Given the description of an element on the screen output the (x, y) to click on. 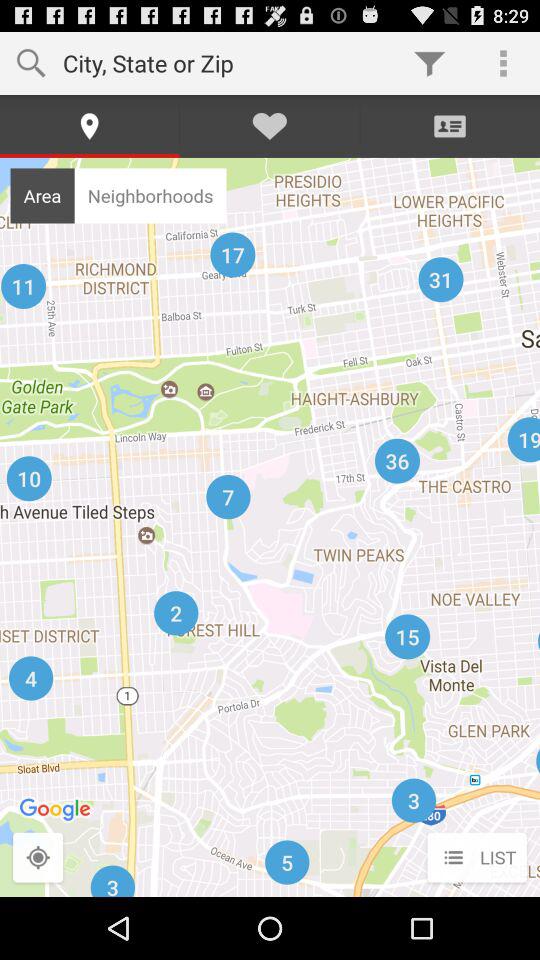
swipe until list item (476, 858)
